Given the description of an element on the screen output the (x, y) to click on. 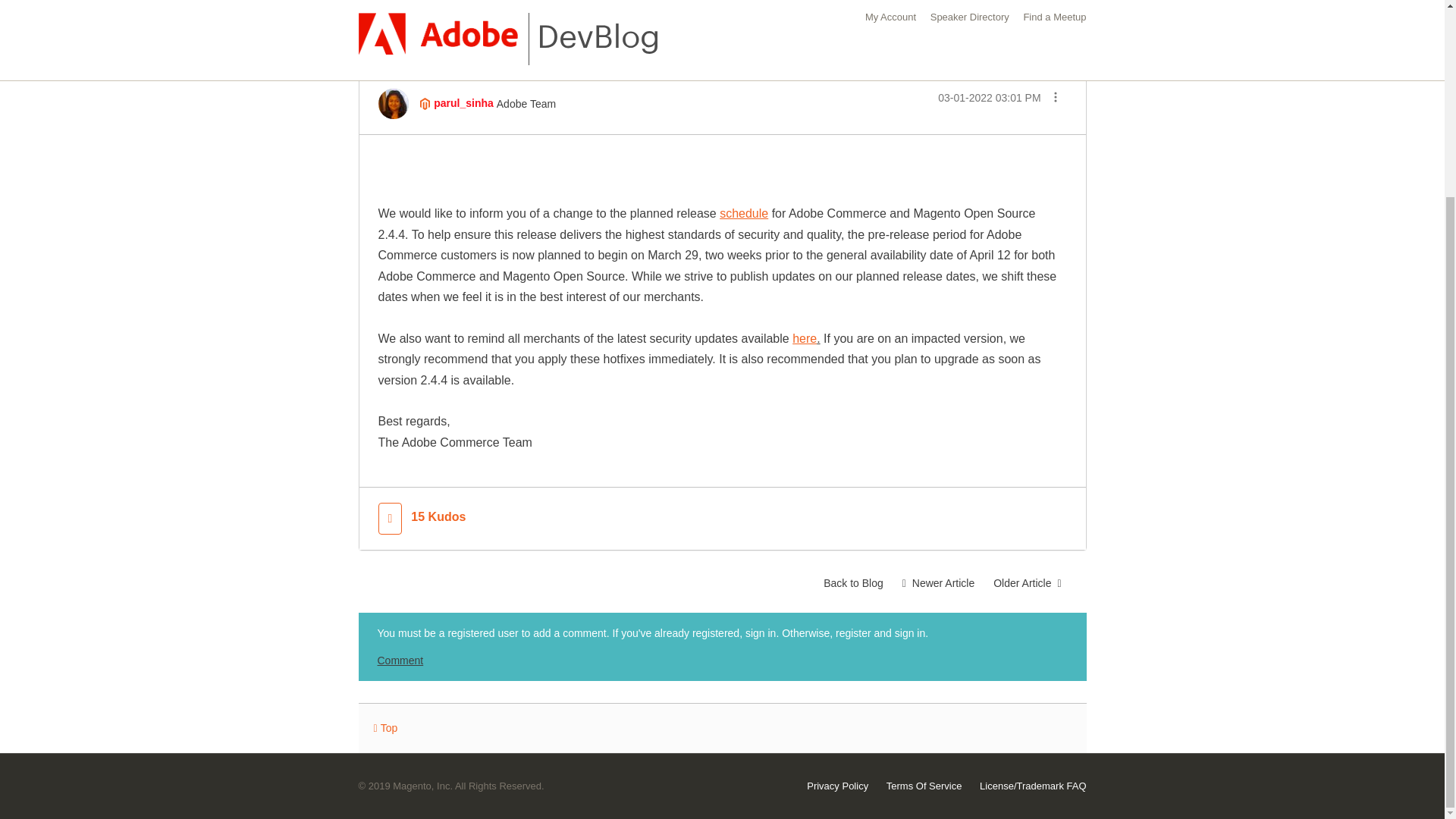
schedule (743, 213)
Adobe Team (424, 103)
Click here to see who gave kudos to this post. (437, 516)
Newer Article (938, 582)
Blog (394, 9)
15 Kudos (437, 516)
Top (385, 727)
Posted on (989, 97)
here (804, 338)
Top (385, 727)
Back to Blog (853, 582)
Top (385, 727)
Show option menu (1054, 99)
Older Article (1027, 582)
Privacy Policy (836, 785)
